Given the description of an element on the screen output the (x, y) to click on. 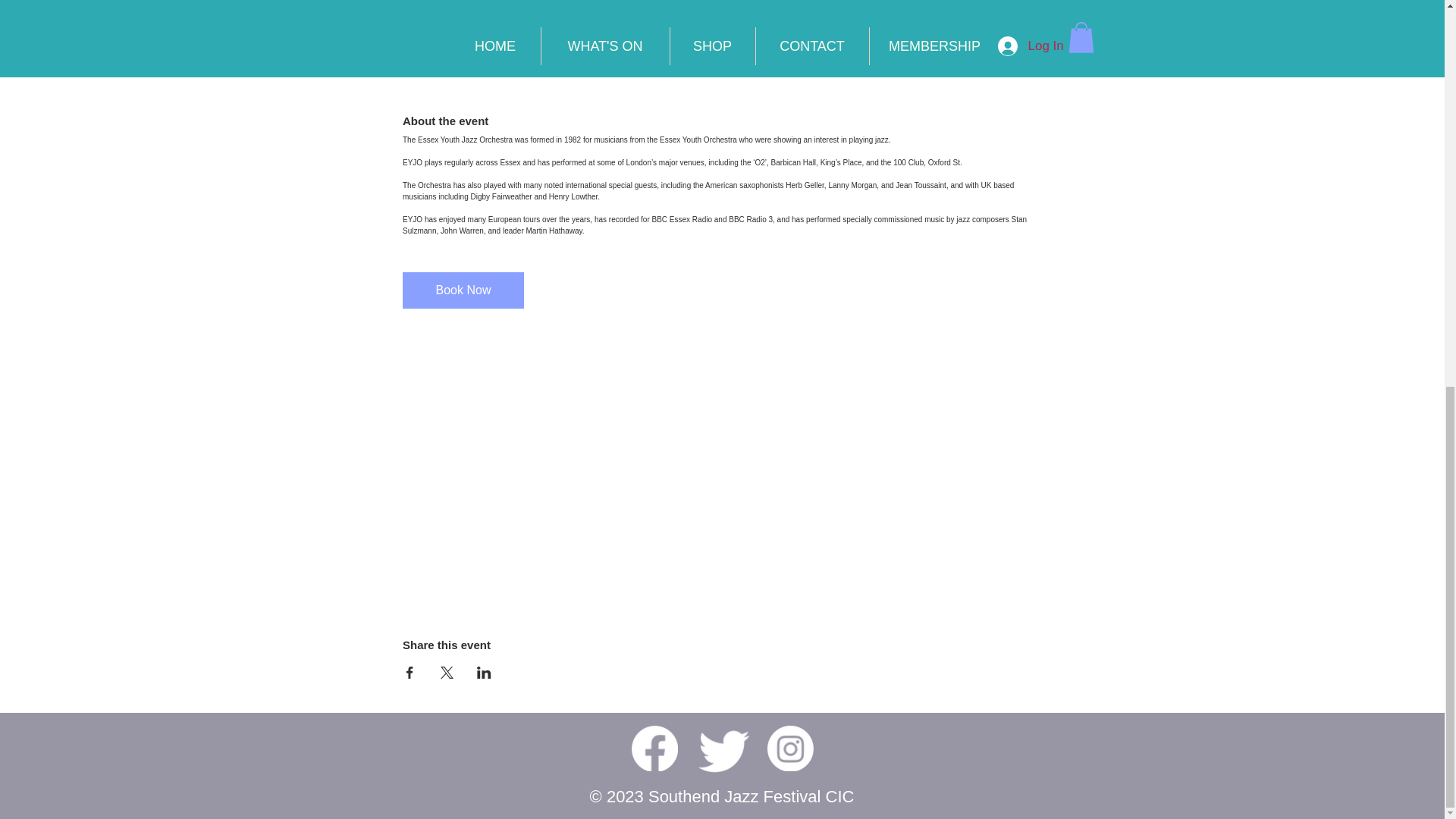
Book Now (463, 289)
